Given the description of an element on the screen output the (x, y) to click on. 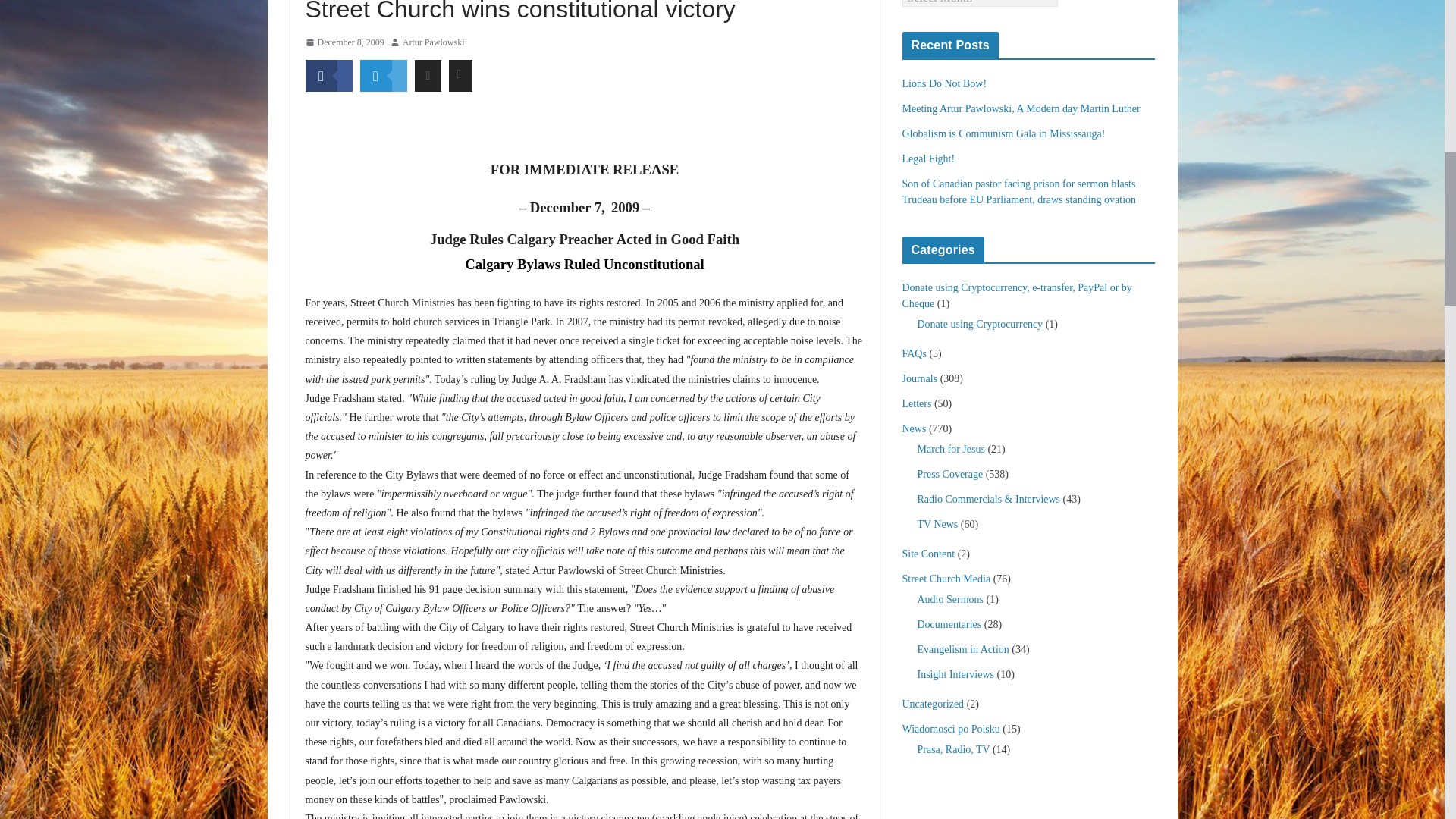
12:59 am (344, 43)
Legal Fight! (928, 158)
Artur Pawlowski (433, 43)
December 8, 2009 (344, 43)
Artur Pawlowski (433, 43)
Meeting Artur Pawlowski, A Modern day Martin Luther (1021, 108)
Globalism is Communism Gala in Mississauga! (1003, 133)
Lions Do Not Bow! (944, 83)
